Given the description of an element on the screen output the (x, y) to click on. 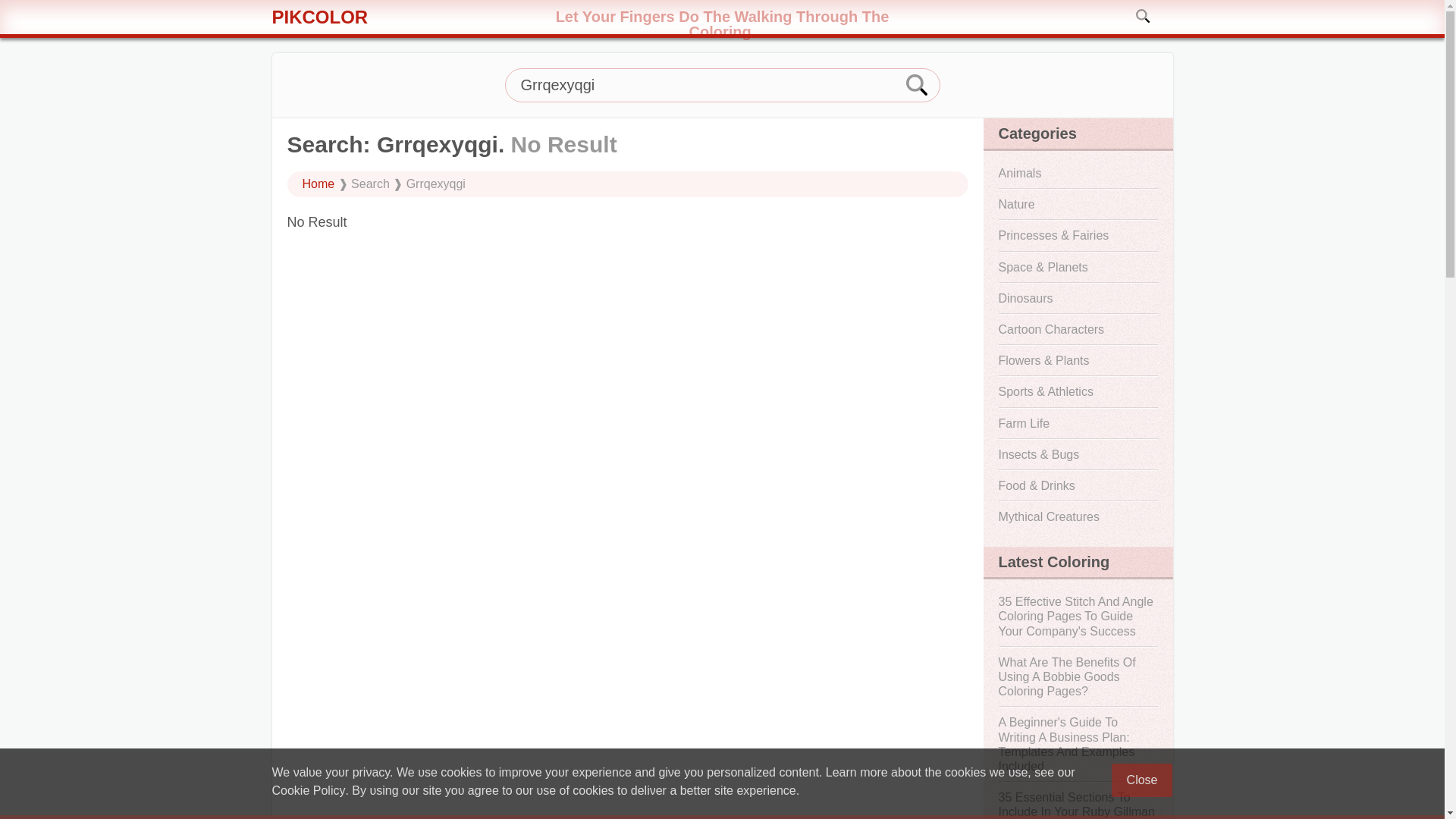
Search (1144, 15)
Grrqexyqgi (722, 84)
Search (917, 85)
PIKCOLOR (405, 24)
Home (317, 183)
Cartoon Characters (1077, 328)
Search (1144, 15)
Pikcolor (405, 24)
Farm Life (1077, 422)
Mythical Creatures (1077, 516)
Nature (1077, 204)
